Given the description of an element on the screen output the (x, y) to click on. 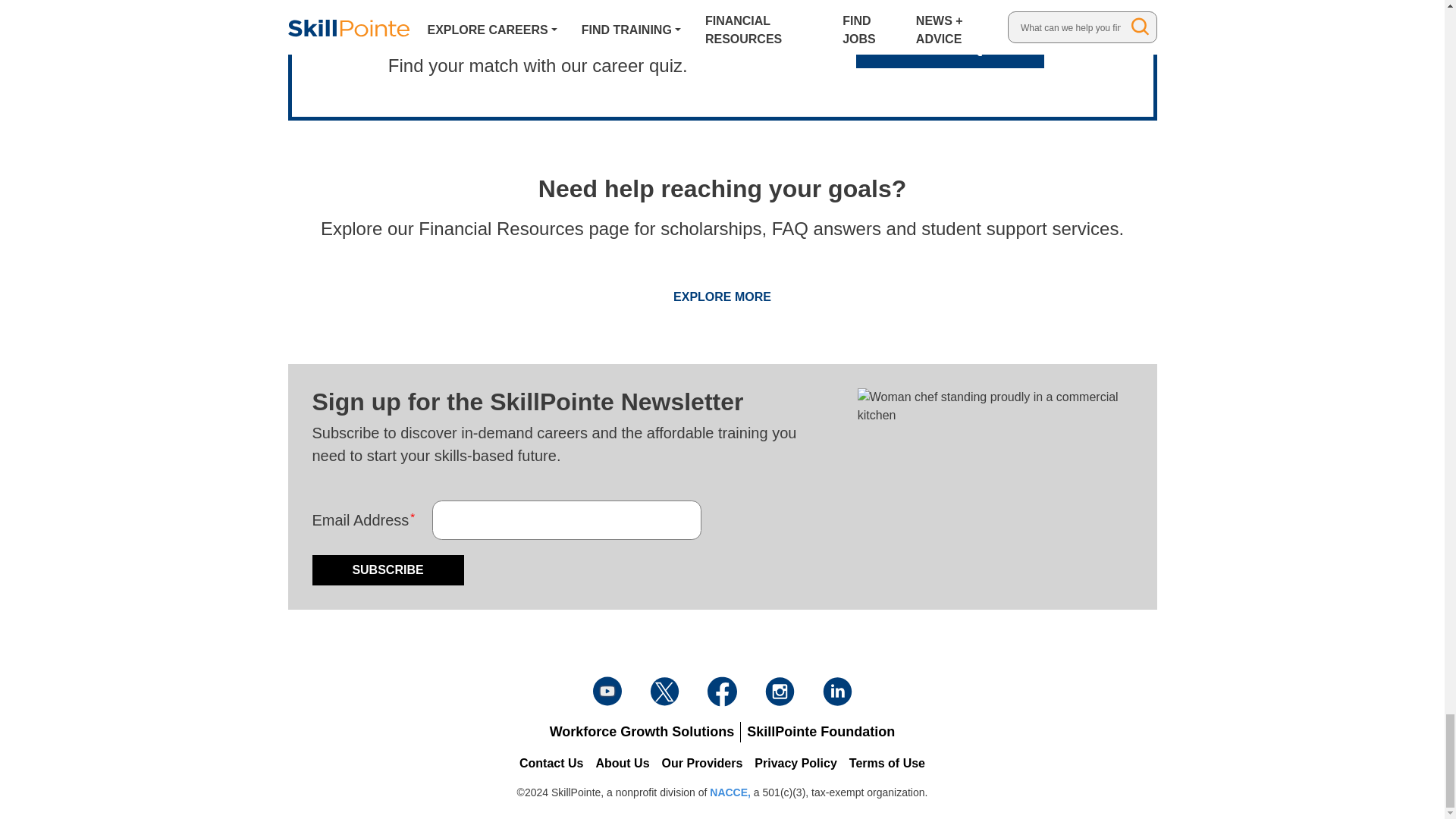
Subscribe (388, 570)
